Given the description of an element on the screen output the (x, y) to click on. 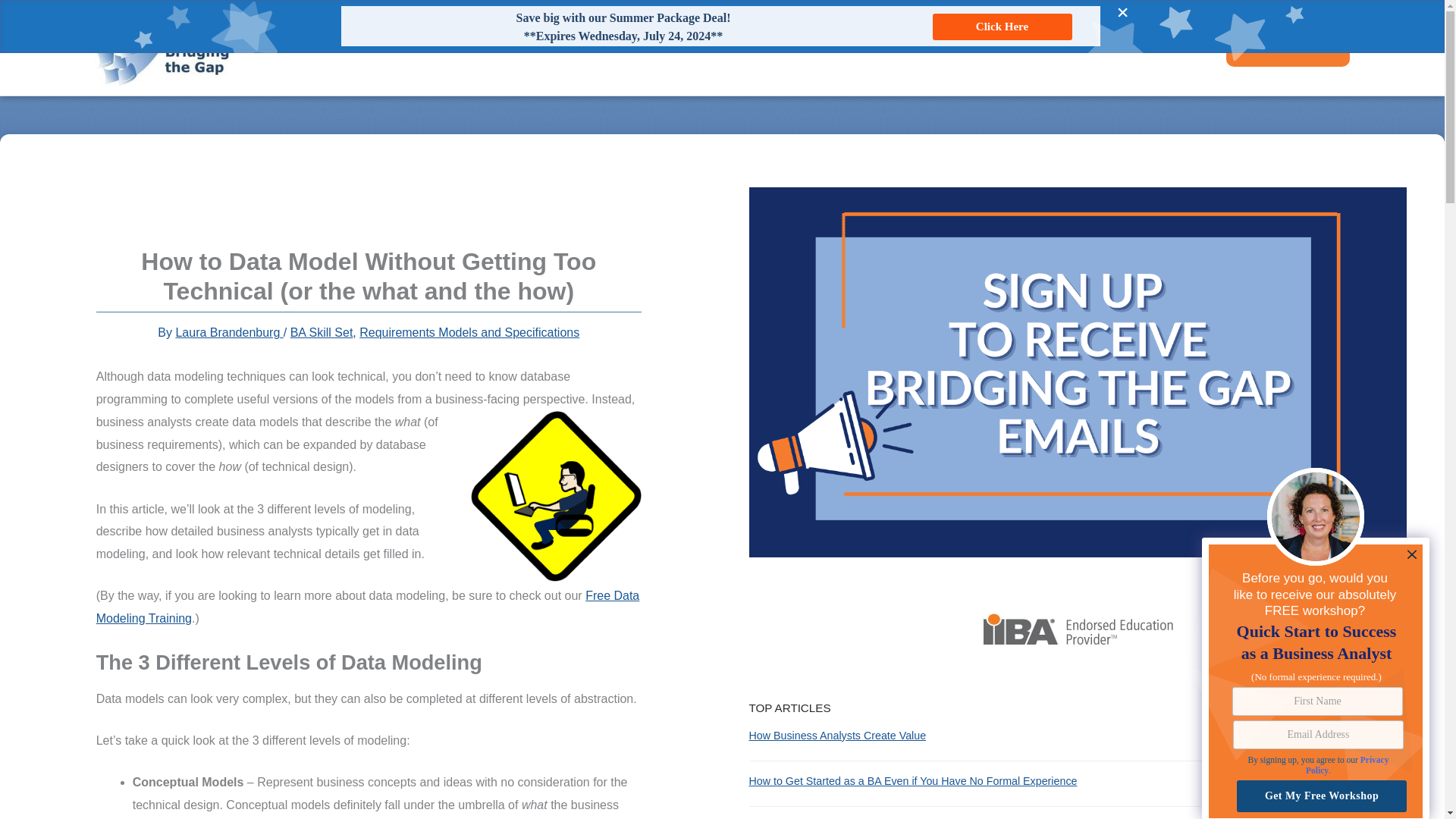
Requirements Models and Specifications (469, 332)
View all posts by Laura Brandenburg (228, 332)
BLOG (1074, 47)
BA Skill Set (321, 332)
How Business Analysts Create Value (837, 735)
TAKE A COURSE (1287, 47)
Laura Brandenburg (228, 332)
FREE WORKSHOP (874, 47)
BA TEMPLATES (1156, 47)
GET THE BOOK (991, 47)
Free Data Modeling Training (368, 606)
